Given the description of an element on the screen output the (x, y) to click on. 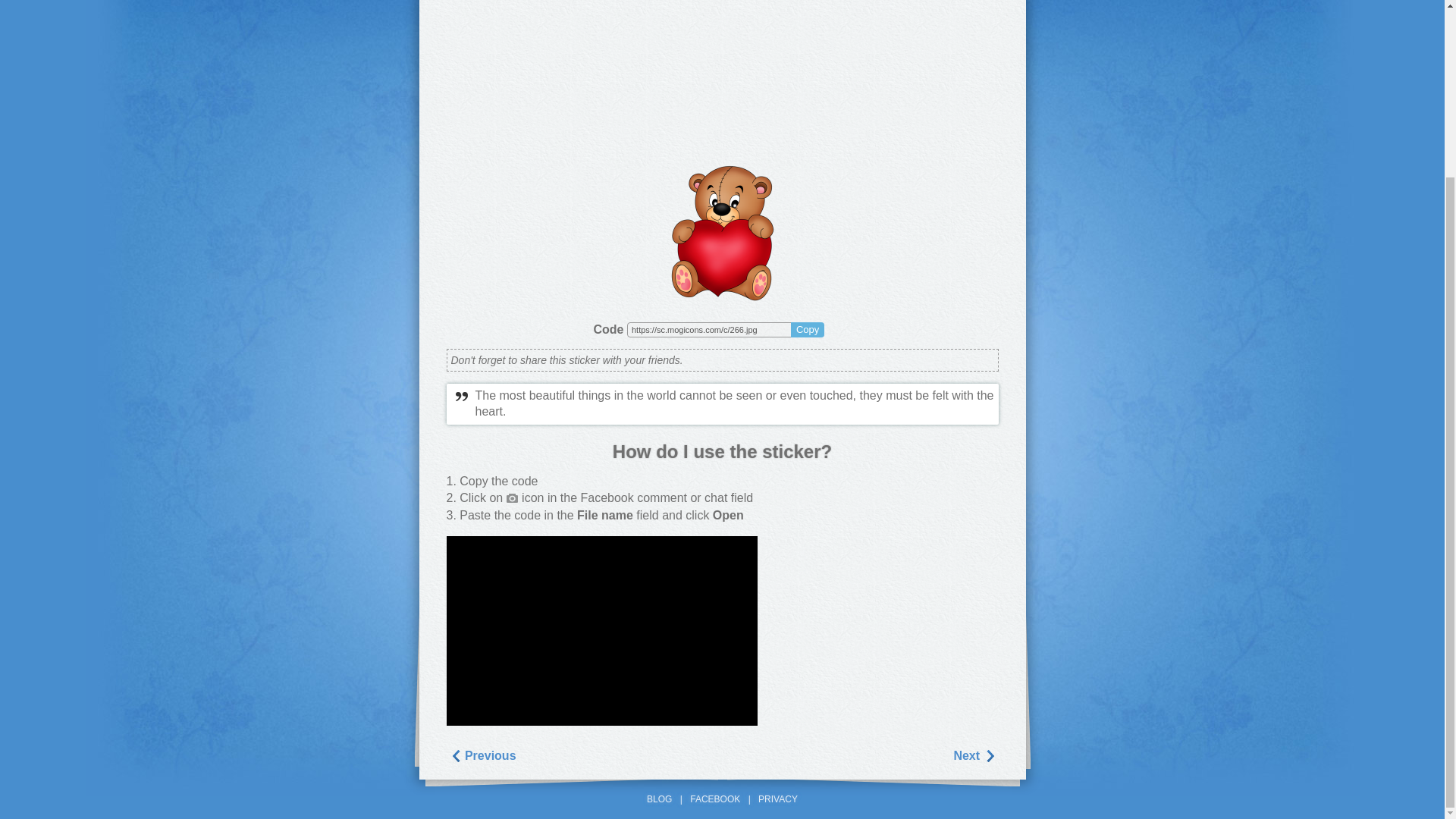
FACEBOOK (714, 798)
Facebook Page (714, 798)
Copy (807, 329)
Kiss (481, 755)
Next (973, 755)
Advertisement (721, 76)
PRIVACY (777, 798)
Attach Photo (512, 498)
Previous (481, 755)
BLOG (658, 798)
